Given the description of an element on the screen output the (x, y) to click on. 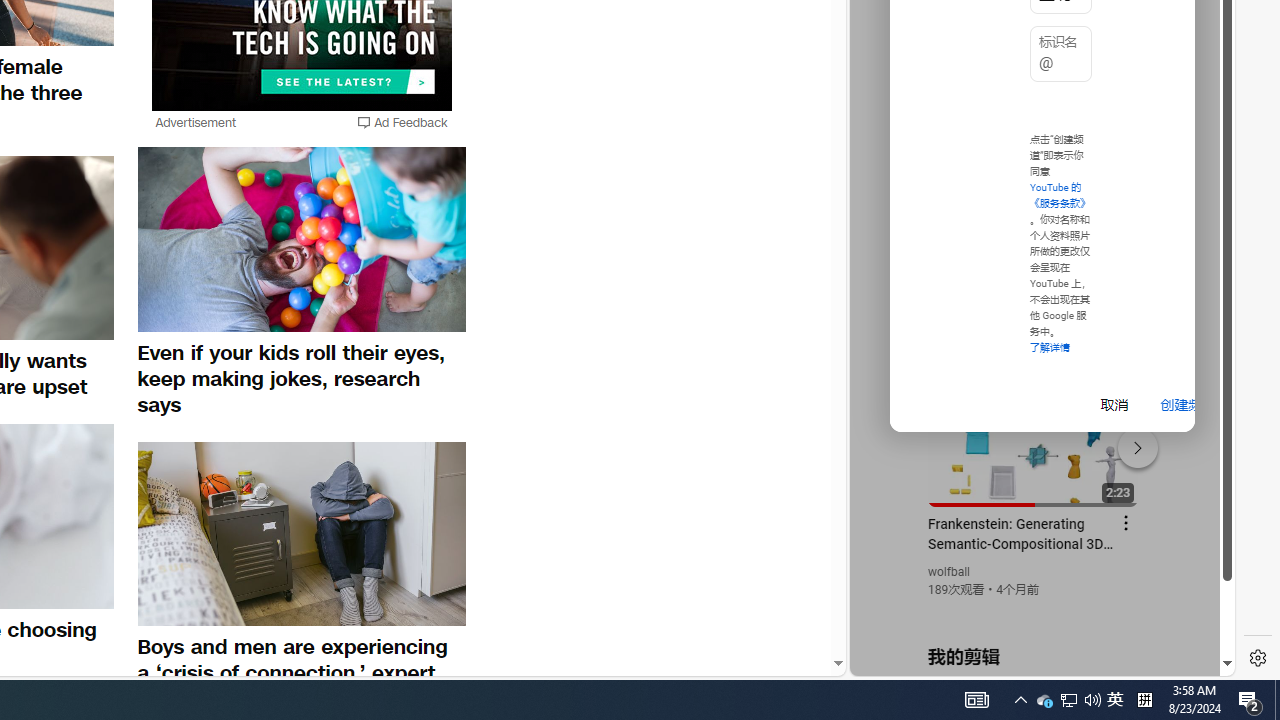
US[ju] (917, 660)
wolfball (949, 572)
you (1034, 609)
Click to scroll right (1196, 83)
